Given the description of an element on the screen output the (x, y) to click on. 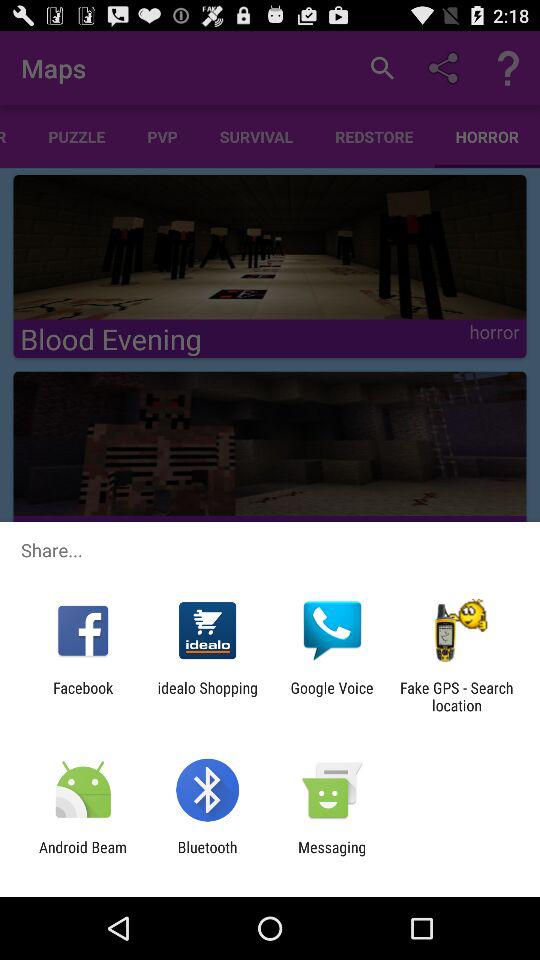
select the messaging item (332, 856)
